Given the description of an element on the screen output the (x, y) to click on. 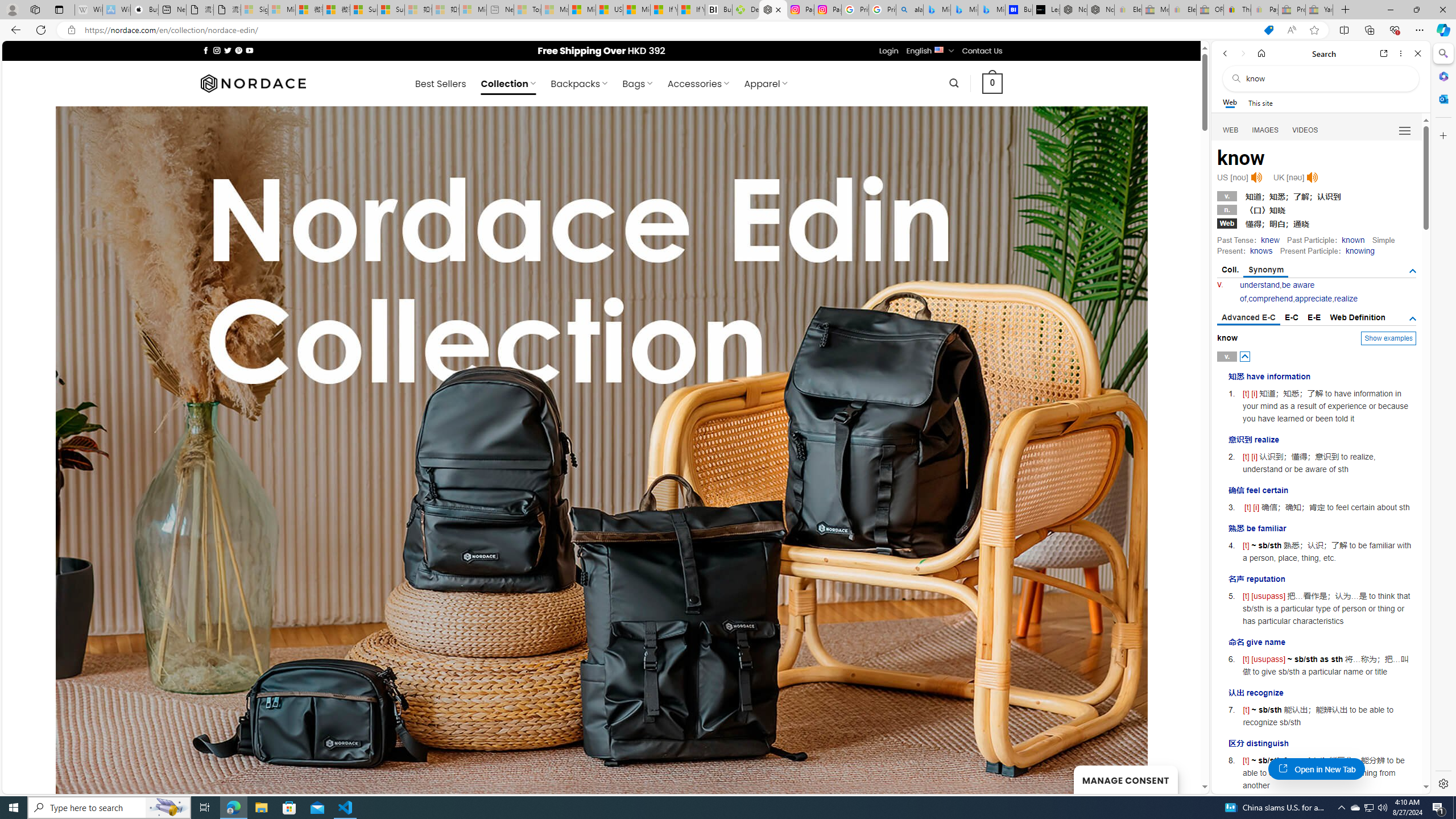
E-C (1291, 317)
MANAGE CONSENT (1125, 779)
English (938, 49)
knowing (1359, 250)
appreciate (1313, 298)
AutomationID: tgsb (1412, 270)
